Given the description of an element on the screen output the (x, y) to click on. 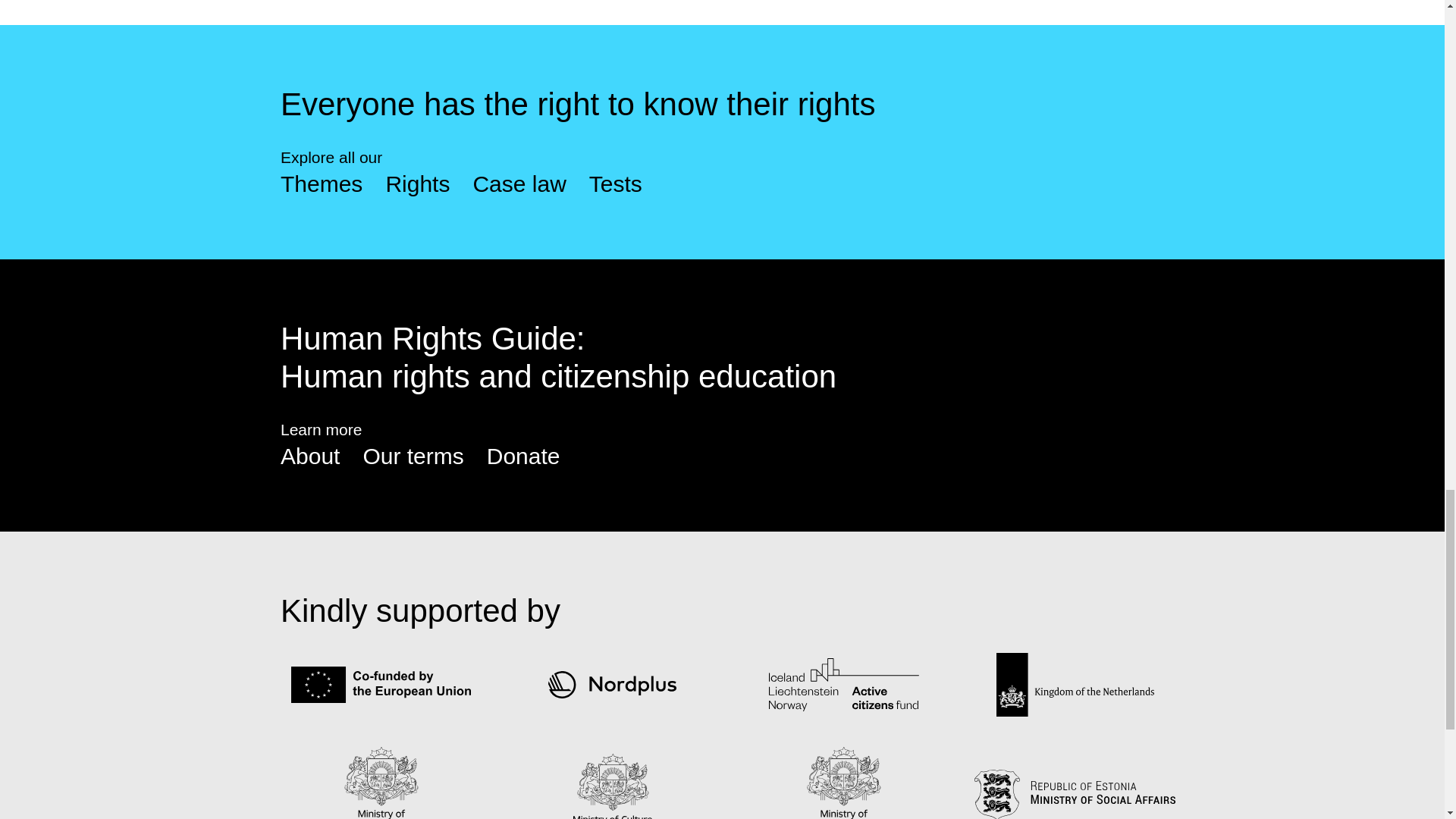
Rights (417, 183)
Case law (518, 183)
Tests (615, 183)
Themes (321, 183)
